Given the description of an element on the screen output the (x, y) to click on. 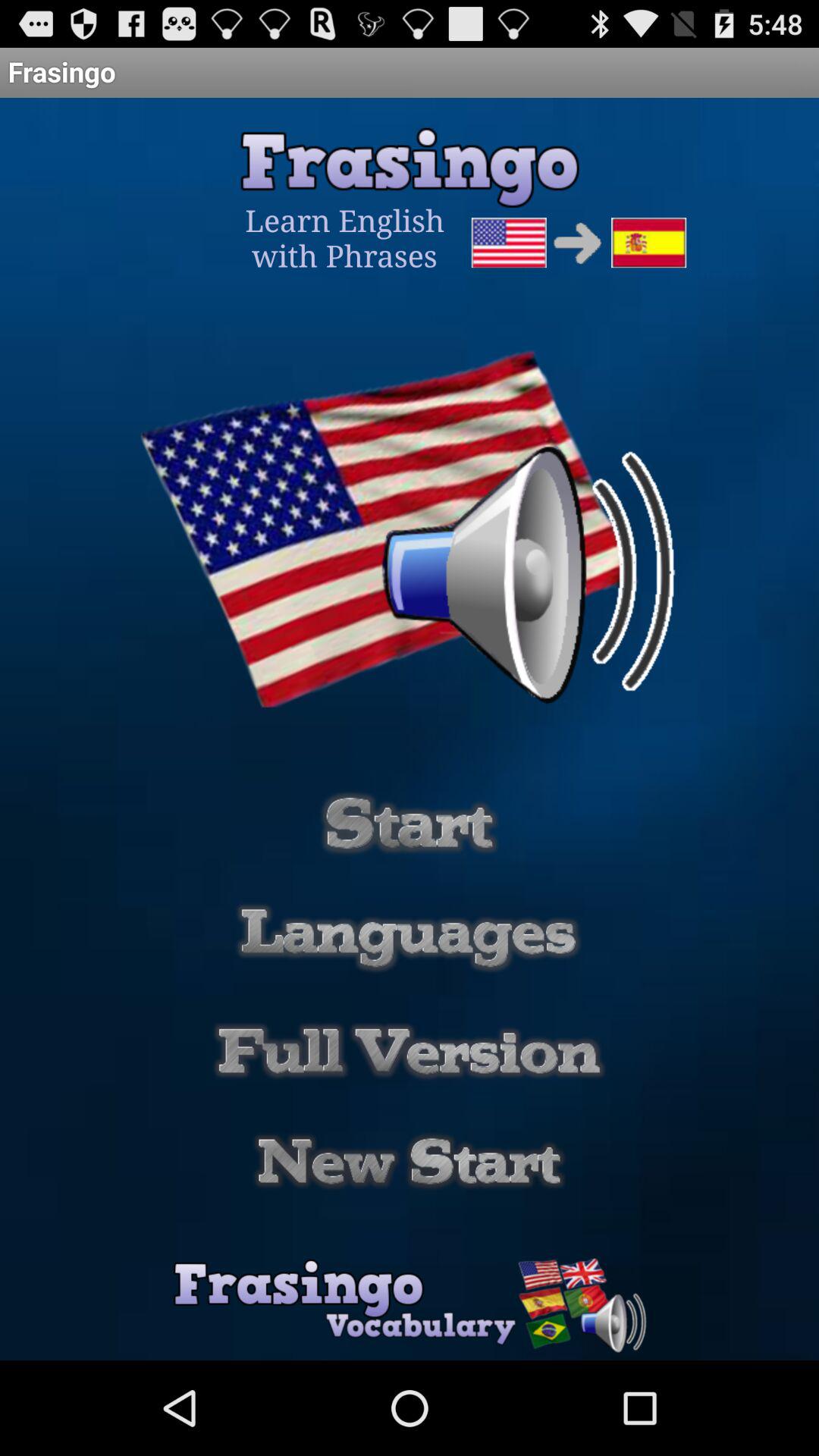
click start option (409, 824)
click on the image above start (408, 539)
click on the button below languages (409, 1050)
